Given the description of an element on the screen output the (x, y) to click on. 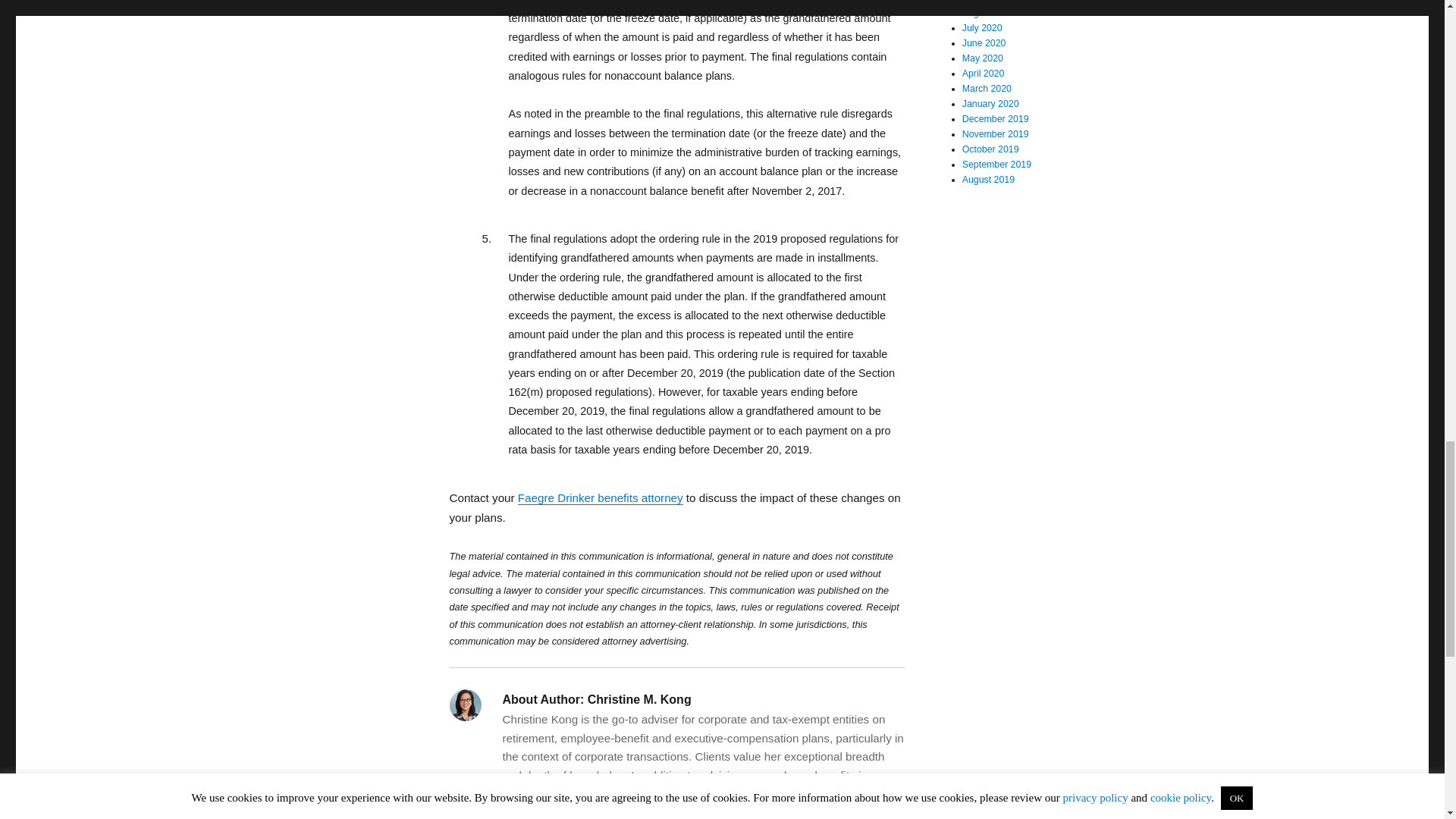
Faegre Drinker benefits attorney (600, 497)
